Given the description of an element on the screen output the (x, y) to click on. 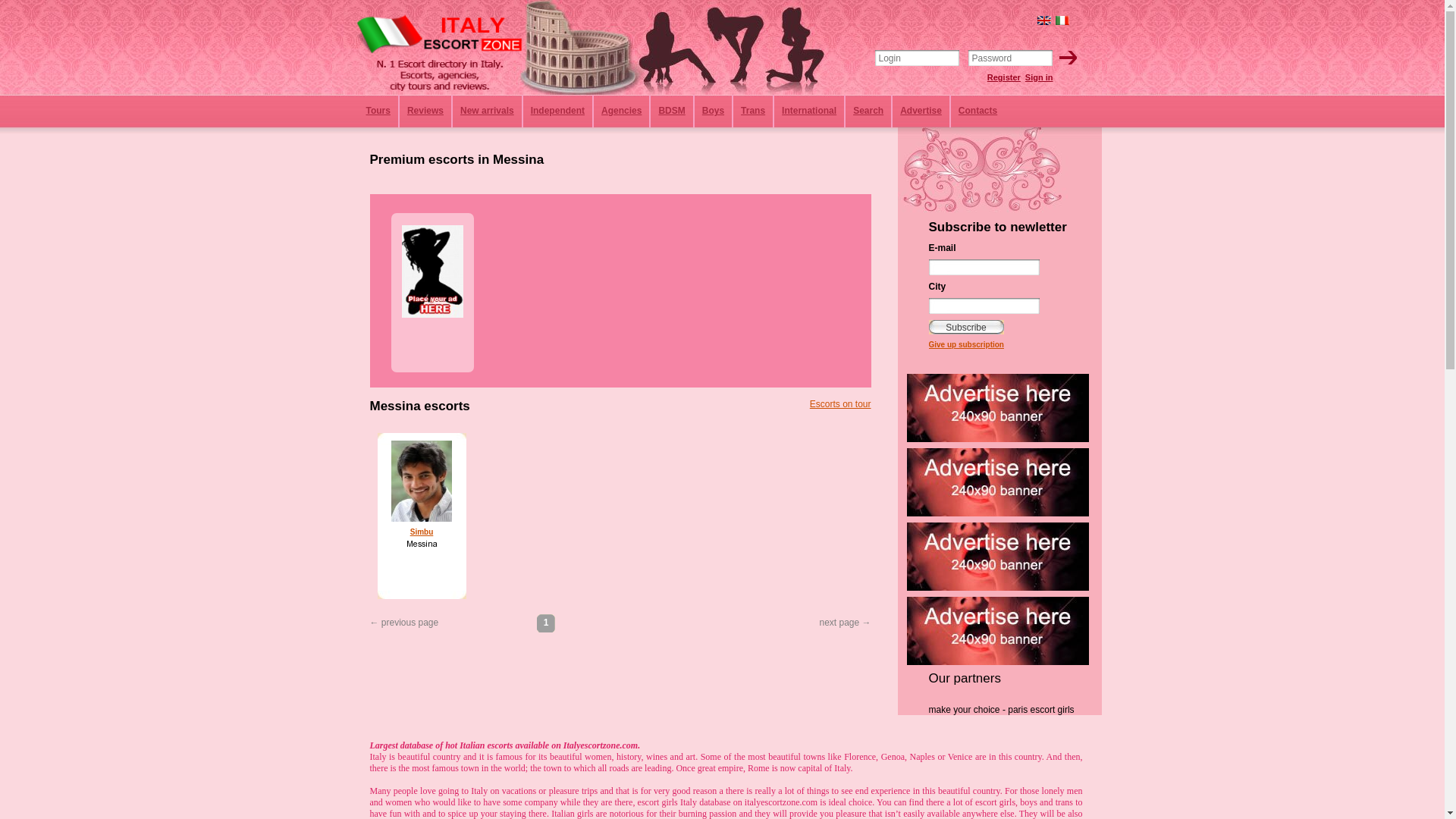
Agencies (621, 110)
Tours (377, 110)
Simbu (421, 531)
Give up subscription (965, 344)
Subscribe (965, 327)
Trans (753, 110)
Escorts on tour (839, 403)
New arrivals (486, 110)
Advertise (920, 110)
Sign in (1039, 77)
Reviews (425, 110)
Subscribe (965, 327)
Contacts (977, 110)
International (808, 110)
Search (868, 110)
